Given the description of an element on the screen output the (x, y) to click on. 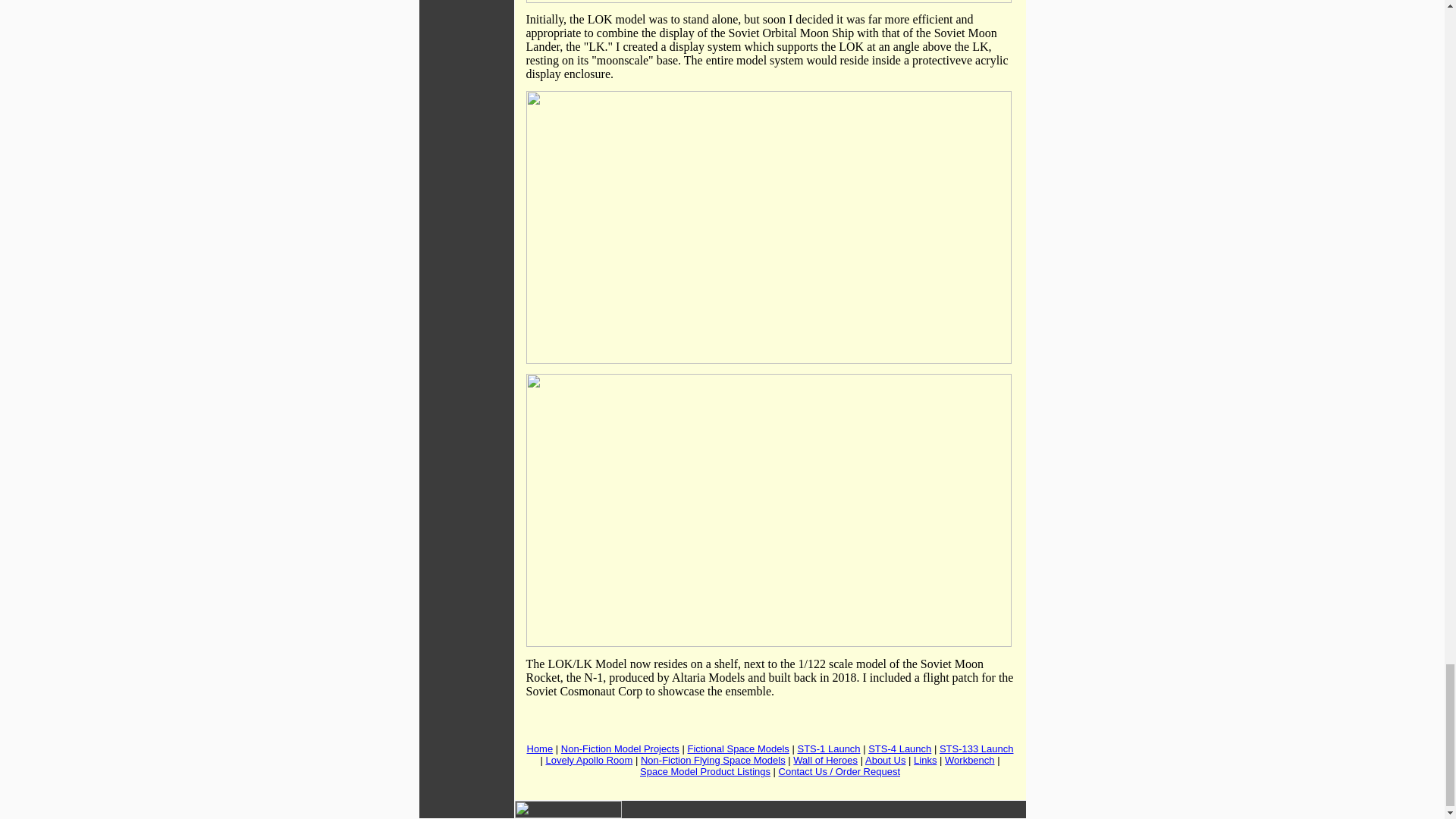
STS-133 Launch (976, 748)
Lovely Apollo Room (587, 759)
Non-Fiction Flying Space Models (713, 759)
Home (539, 748)
Space Model Product Listings (705, 771)
Wall of Heroes (825, 759)
STS-4 Launch (899, 748)
Links (925, 759)
Fictional Space Models (738, 748)
STS-1 Launch (828, 748)
